Given the description of an element on the screen output the (x, y) to click on. 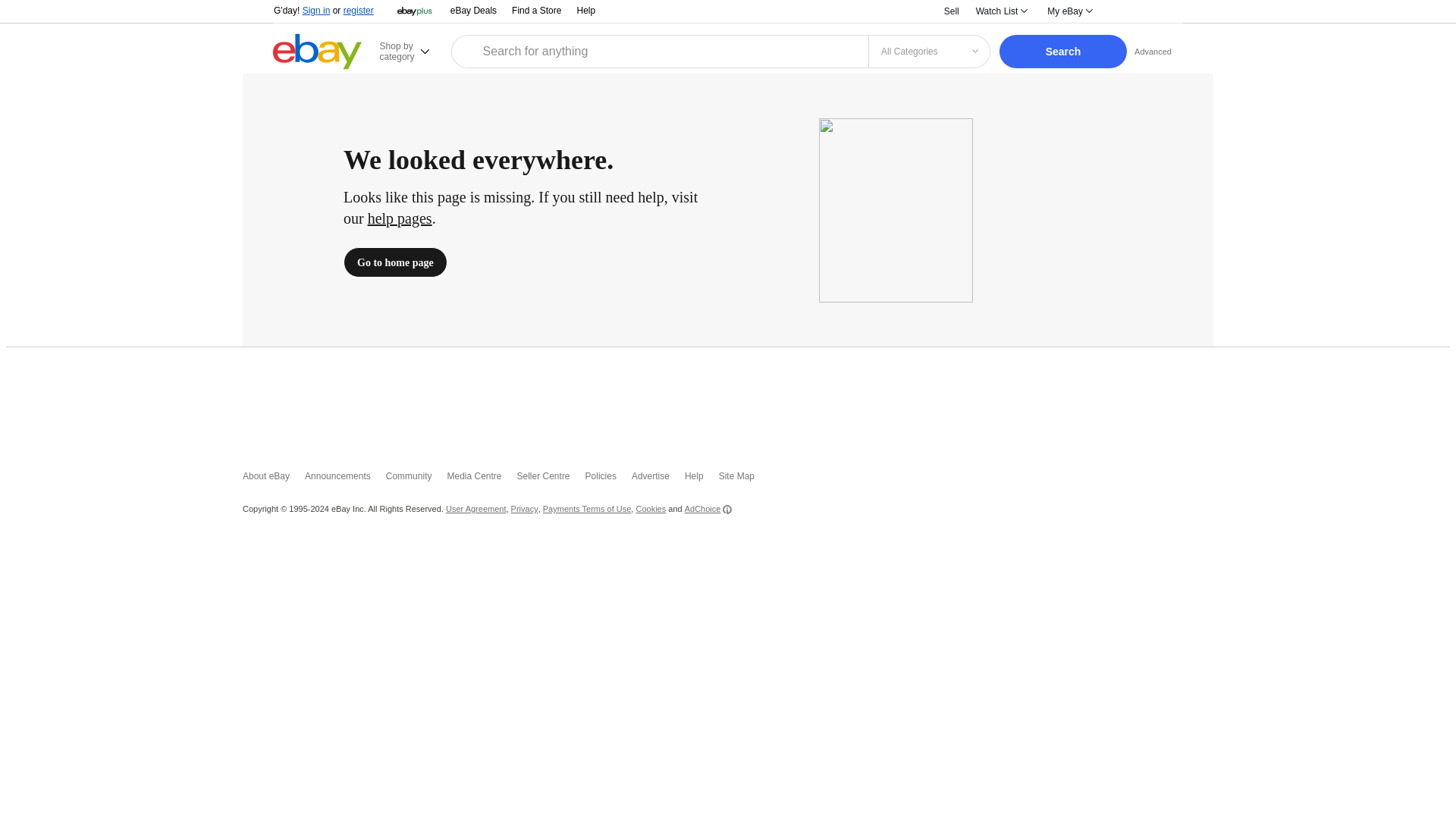
Seller Centre (550, 479)
About eBay (273, 479)
help pages (400, 217)
eBay Deals (472, 11)
Find a Store (536, 11)
Search (1062, 51)
My eBay (1069, 11)
Watch List (1001, 11)
Go to home page (394, 262)
Advanced (1152, 51)
Advanced search (1152, 51)
Notifications (1122, 11)
Shop by category (413, 51)
Watch List (1001, 11)
Sign in (316, 9)
